Given the description of an element on the screen output the (x, y) to click on. 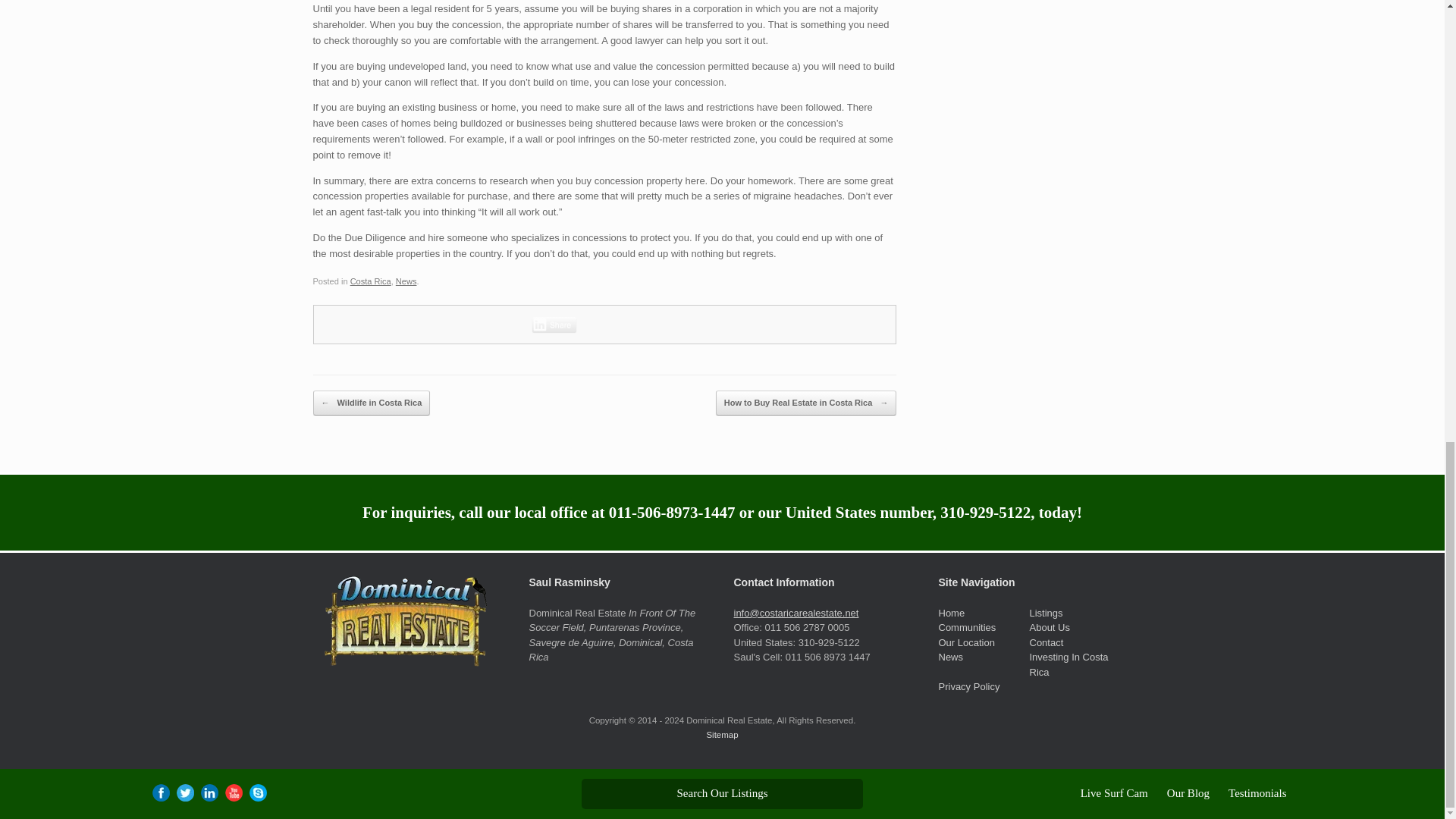
Share (554, 324)
Costa Rica (370, 280)
News (406, 280)
